Given the description of an element on the screen output the (x, y) to click on. 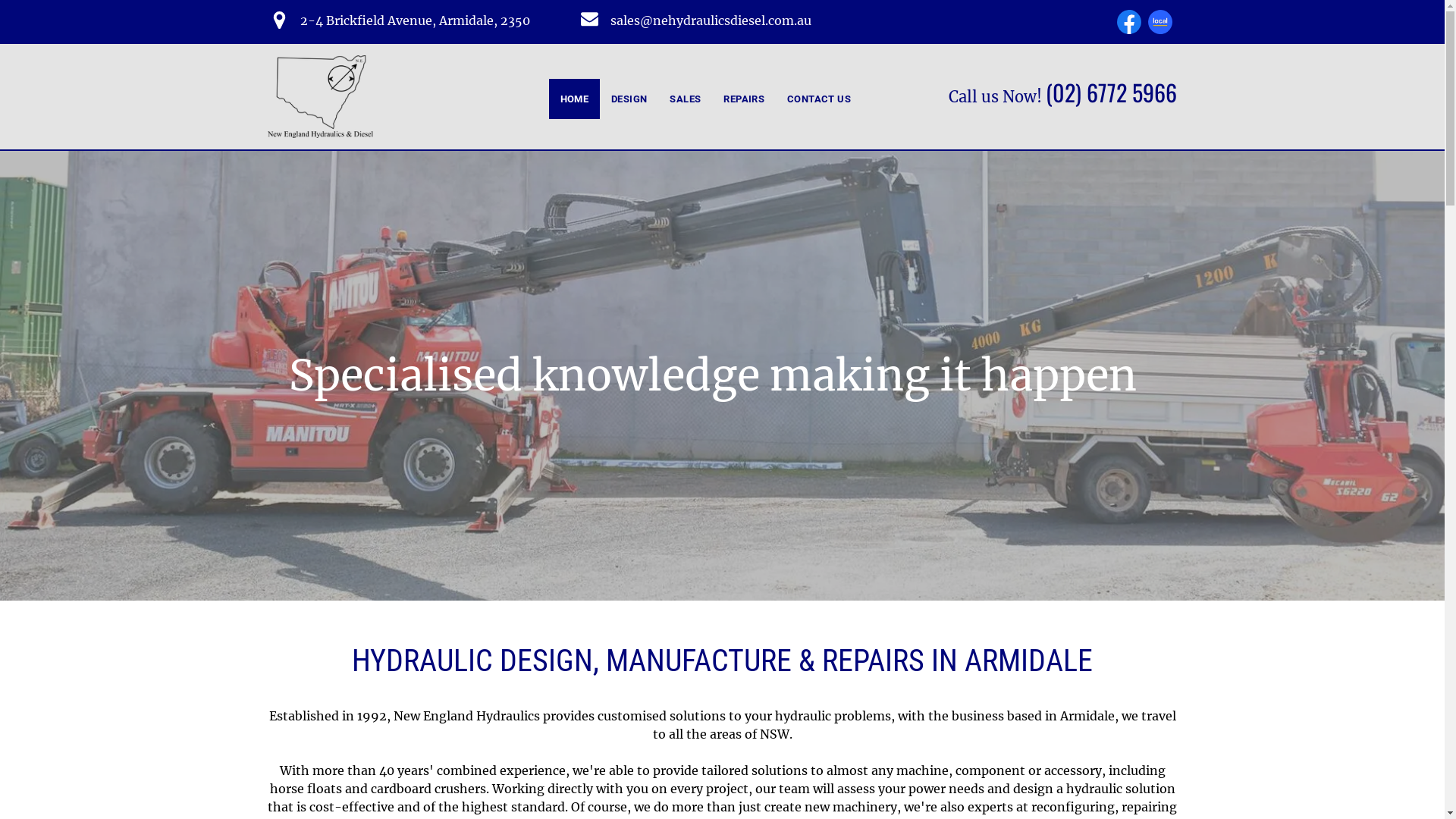
REPAIRS Element type: text (743, 98)
CONTACT US Element type: text (818, 98)
2-4 Brickfield Avenue, Armidale, 2350 Element type: text (415, 20)
sales@nehydraulicsdiesel.com.au Element type: text (710, 20)
www.localsearch.com.au Element type: hover (1160, 21)
New England Hydraulics Element type: hover (319, 96)
DESIGN Element type: text (628, 98)
HOME Element type: text (574, 98)
Find Us On Facebook Element type: hover (1129, 21)
SALES Element type: text (685, 98)
(02) 6772 5966 Element type: text (1110, 92)
